Given the description of an element on the screen output the (x, y) to click on. 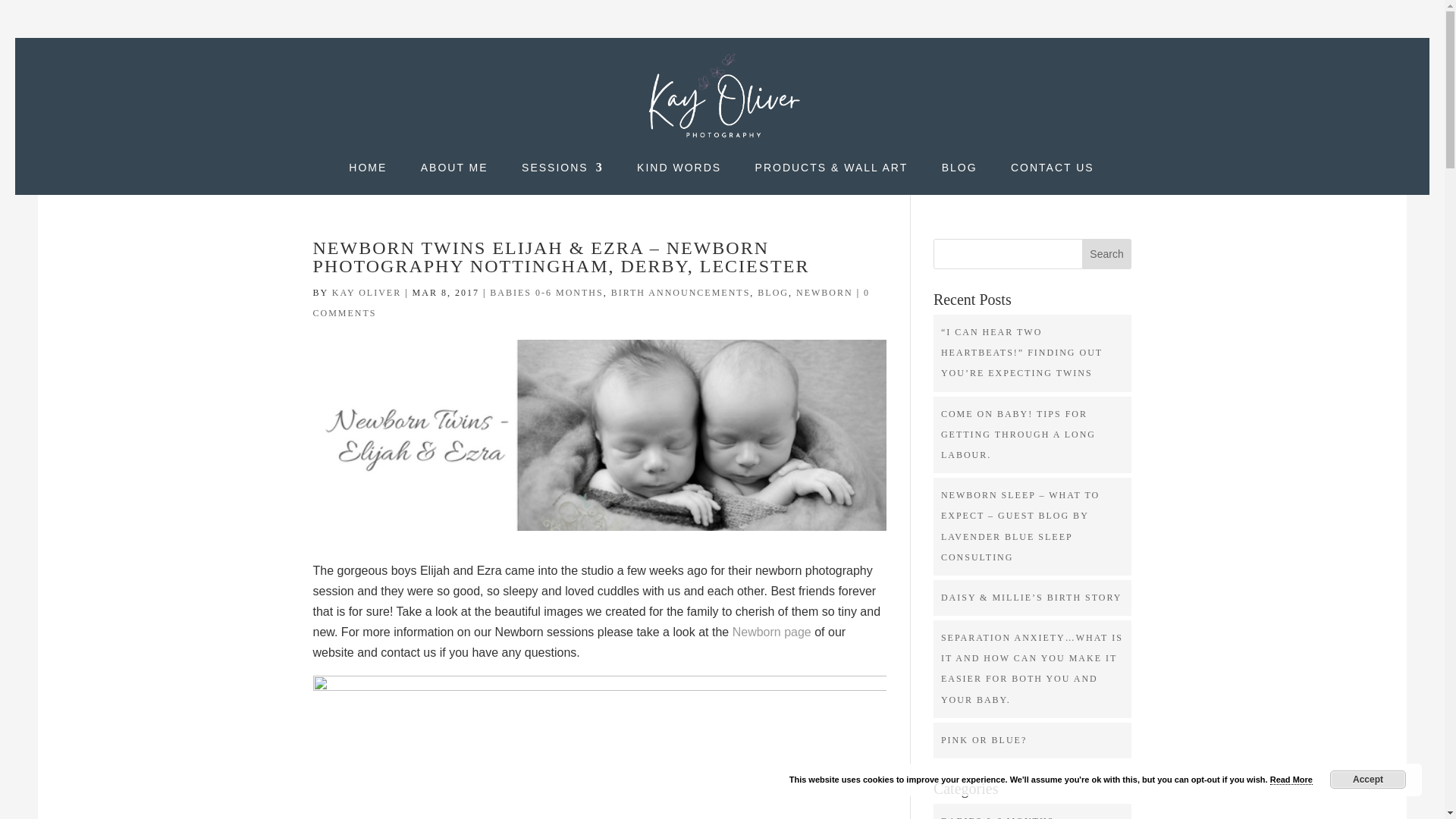
0 COMMENTS (591, 302)
BLOG (959, 178)
ABOUT ME (453, 178)
Posts by Kay Oliver (366, 292)
Newborn page (771, 631)
KAY OLIVER (366, 292)
CONTACT US (1052, 178)
BLOG (773, 292)
NEWBORN (824, 292)
BABIES 0-6 MONTHS (545, 292)
SESSIONS (562, 178)
KIND WORDS (678, 178)
BIRTH ANNOUNCEMENTS (681, 292)
HOME (368, 178)
Search (1106, 254)
